Given the description of an element on the screen output the (x, y) to click on. 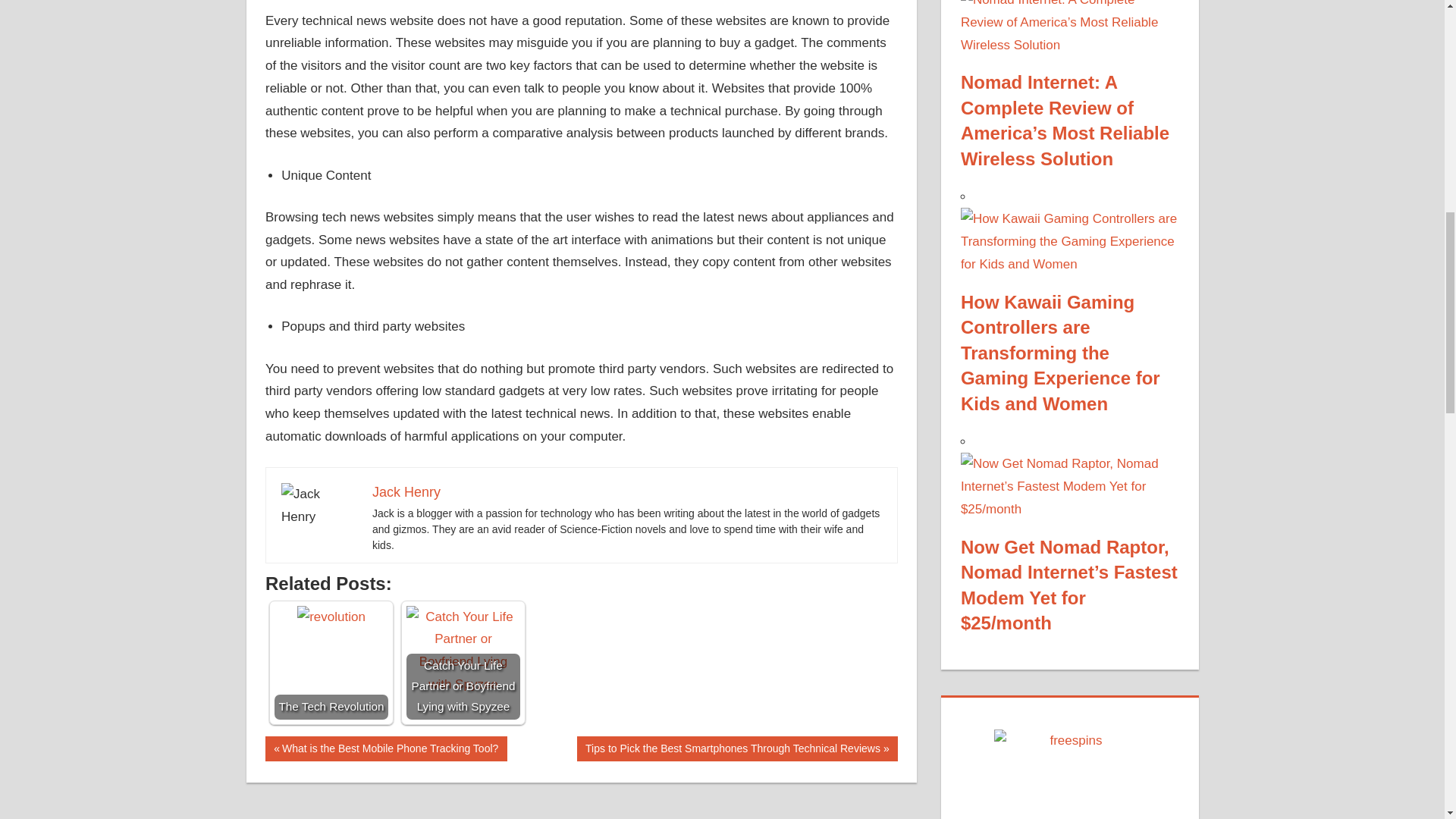
Jack Henry (406, 491)
Catch Your Life Partner or Boyfriend Lying with Spyzee (462, 662)
Catch Your Life Partner or Boyfriend Lying with Spyzee (462, 651)
The Tech Revolution (331, 617)
Jack Henry (318, 505)
The Tech Revolution (385, 748)
